Given the description of an element on the screen output the (x, y) to click on. 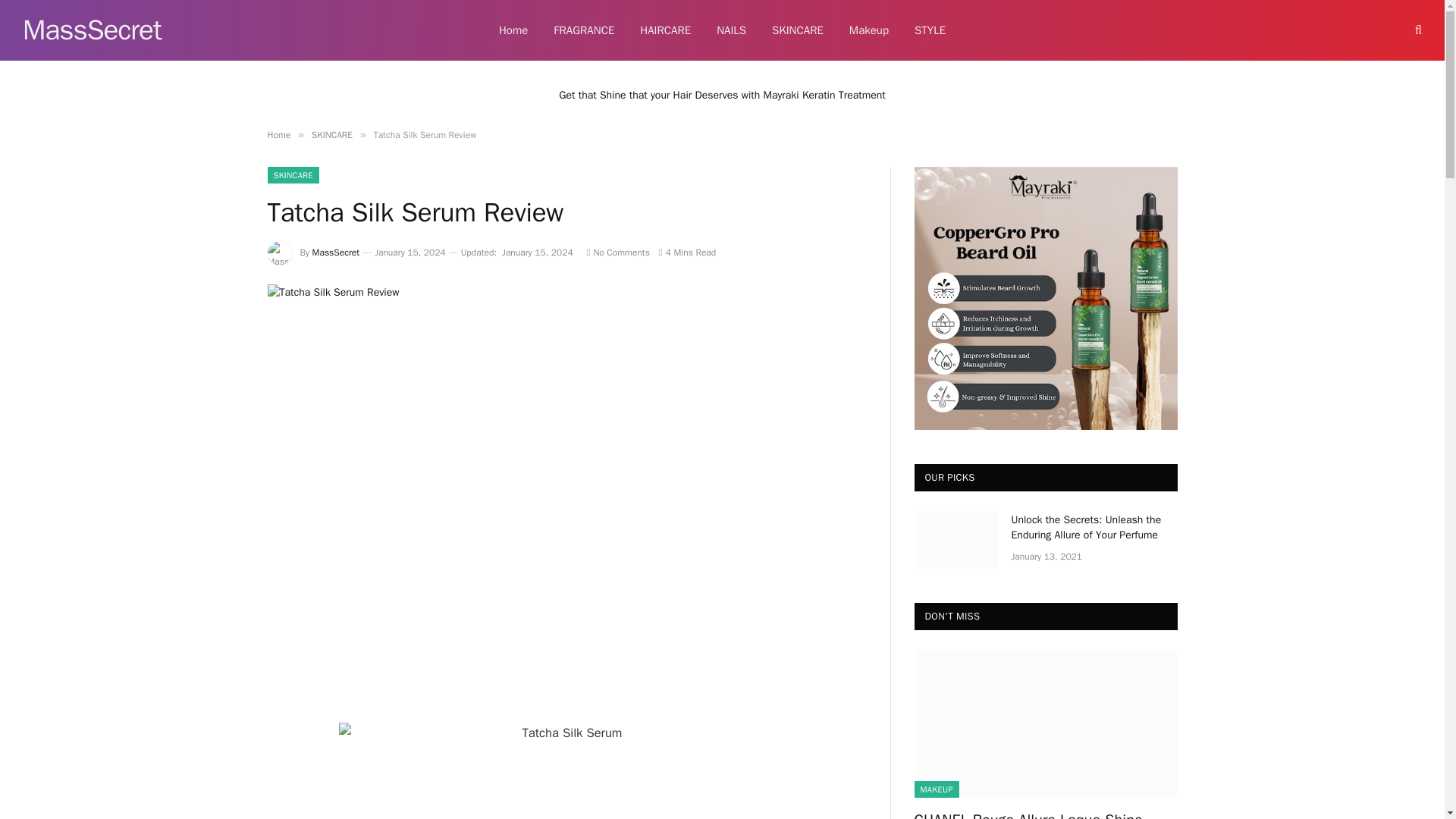
SKINCARE (796, 30)
SKINCARE (292, 175)
MassSecret (92, 30)
HAIRCARE (665, 30)
SKINCARE (331, 134)
Home (513, 30)
Makeup (868, 30)
NAILS (730, 30)
FRAGRANCE (583, 30)
Home (277, 134)
